Given the description of an element on the screen output the (x, y) to click on. 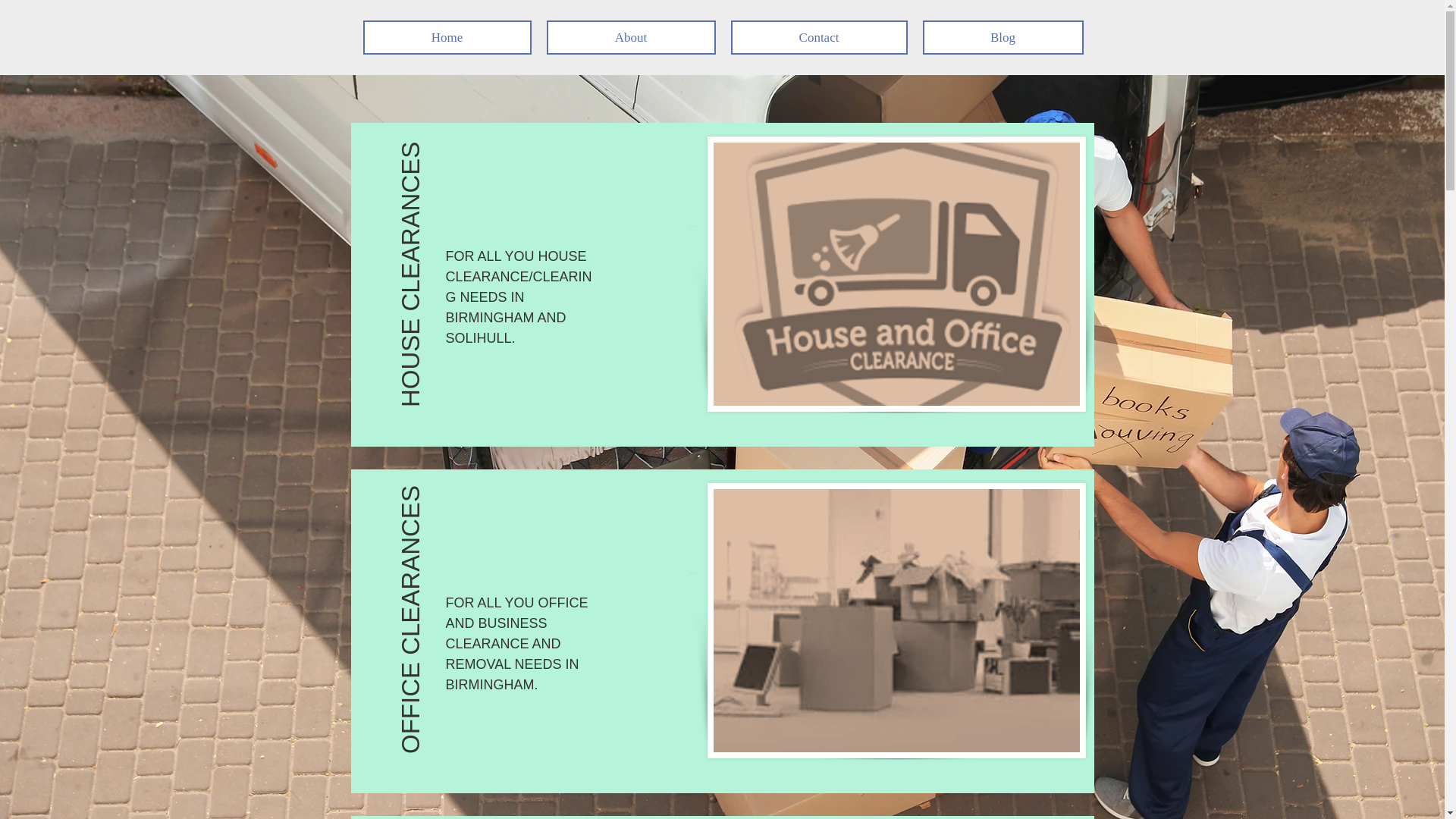
Home (446, 37)
Blog (1002, 37)
Contact (818, 37)
house clearance company birmingham (895, 273)
OFFICE CLEARANCES (522, 507)
office and business clearanc company in birmingham (895, 620)
About (630, 37)
